Given the description of an element on the screen output the (x, y) to click on. 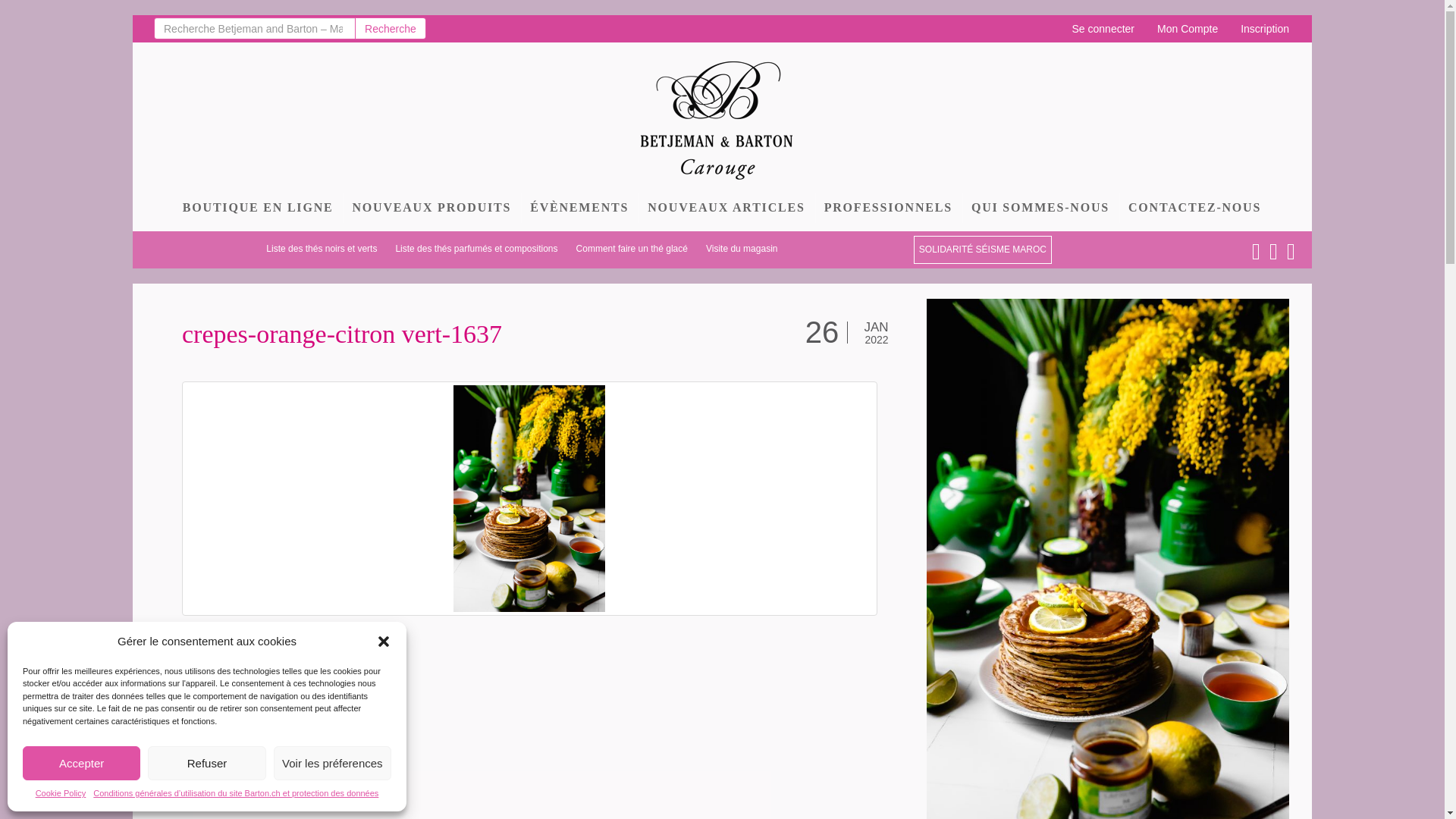
Recherche Element type: text (390, 28)
NOUVEAUX ARTICLES Element type: text (726, 207)
NOUVEAUX PRODUITS Element type: text (431, 207)
Accepter Element type: text (81, 763)
Inscription Element type: text (1264, 28)
crepes-orange-citron vert-1637 Element type: text (342, 334)
BOUTIQUE EN LIGNE Element type: text (258, 207)
PROFESSIONNELS Element type: text (888, 207)
CONTACTEZ-NOUS Element type: text (1194, 207)
Cookie Policy Element type: text (60, 793)
Visite du magasin Element type: text (741, 248)
Se connecter Element type: text (1103, 28)
QUI SOMMES-NOUS Element type: text (1040, 207)
Refuser Element type: text (206, 763)
Mon Compte Element type: text (1187, 28)
